Given the description of an element on the screen output the (x, y) to click on. 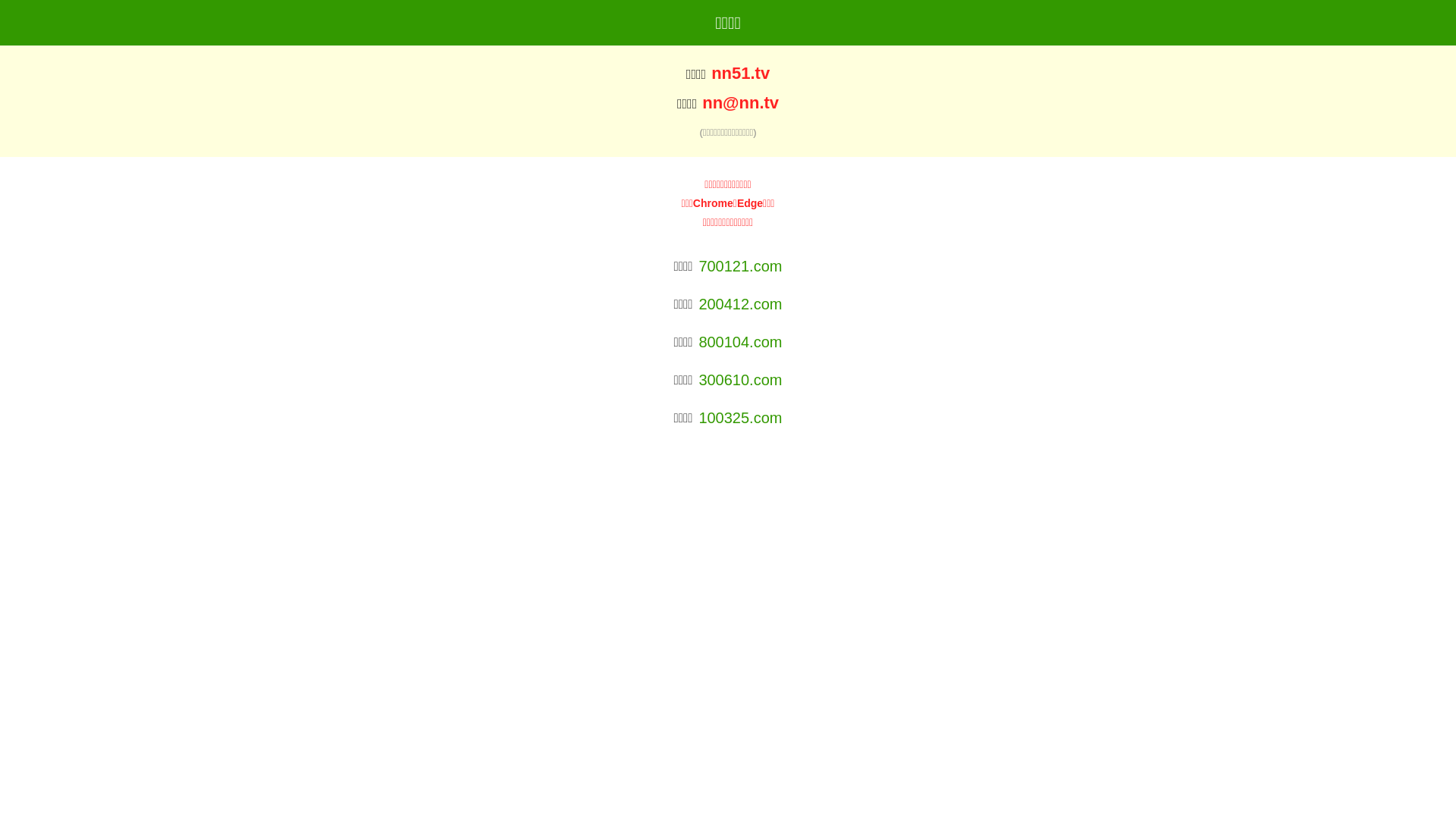
300610.com Element type: text (739, 379)
200412.com Element type: text (739, 303)
700121.com Element type: text (739, 265)
100325.com Element type: text (739, 417)
800104.com Element type: text (739, 341)
